Given the description of an element on the screen output the (x, y) to click on. 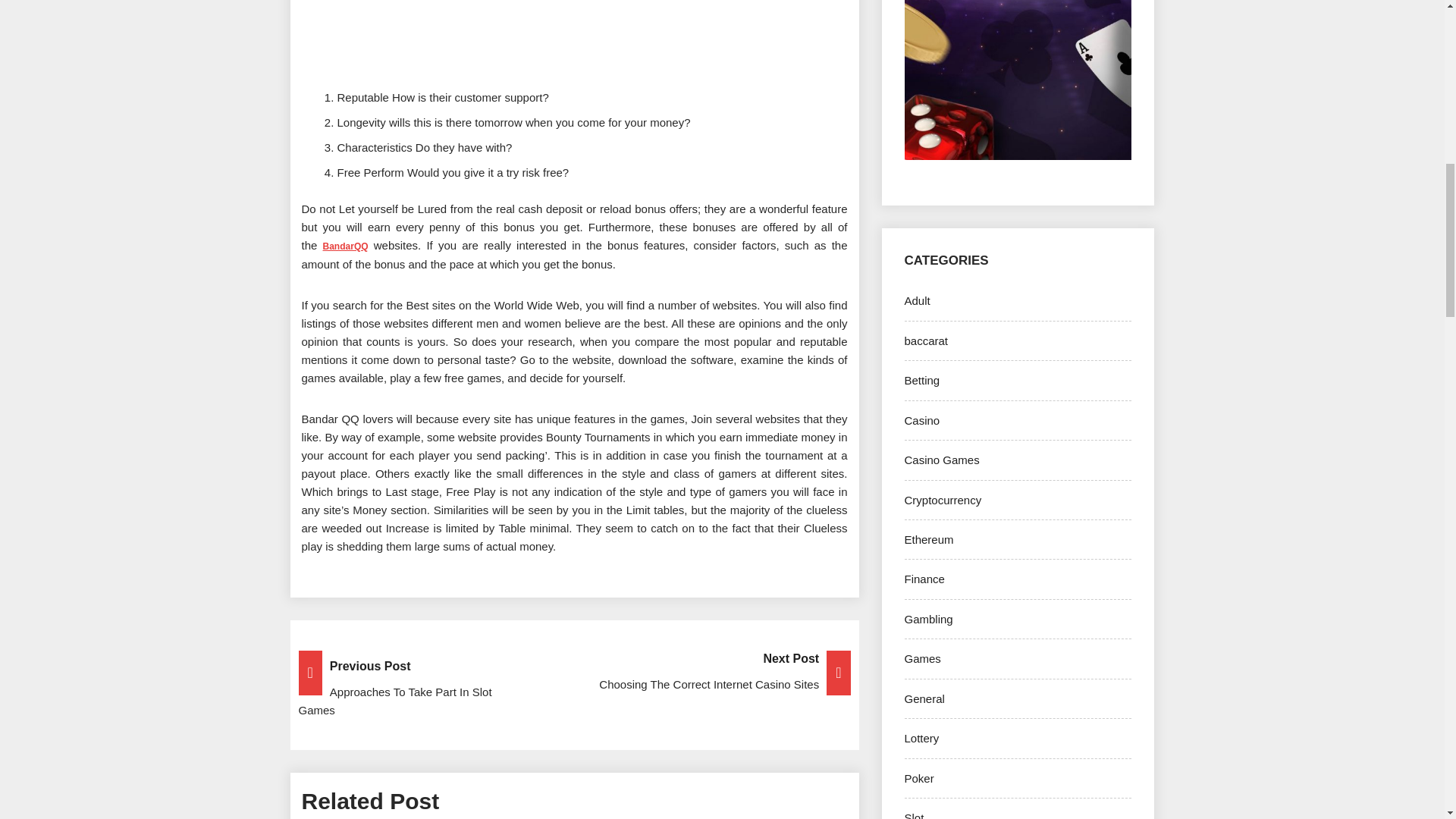
Poker (918, 778)
Adult (917, 300)
Betting (921, 379)
Cryptocurrency (942, 499)
Lottery (921, 738)
baccarat (925, 340)
BandarQQ (345, 245)
Casino Games (941, 459)
Finance (923, 578)
Casino (921, 420)
Games (922, 658)
General (923, 698)
Gambling (928, 618)
Ethereum (928, 539)
